Given the description of an element on the screen output the (x, y) to click on. 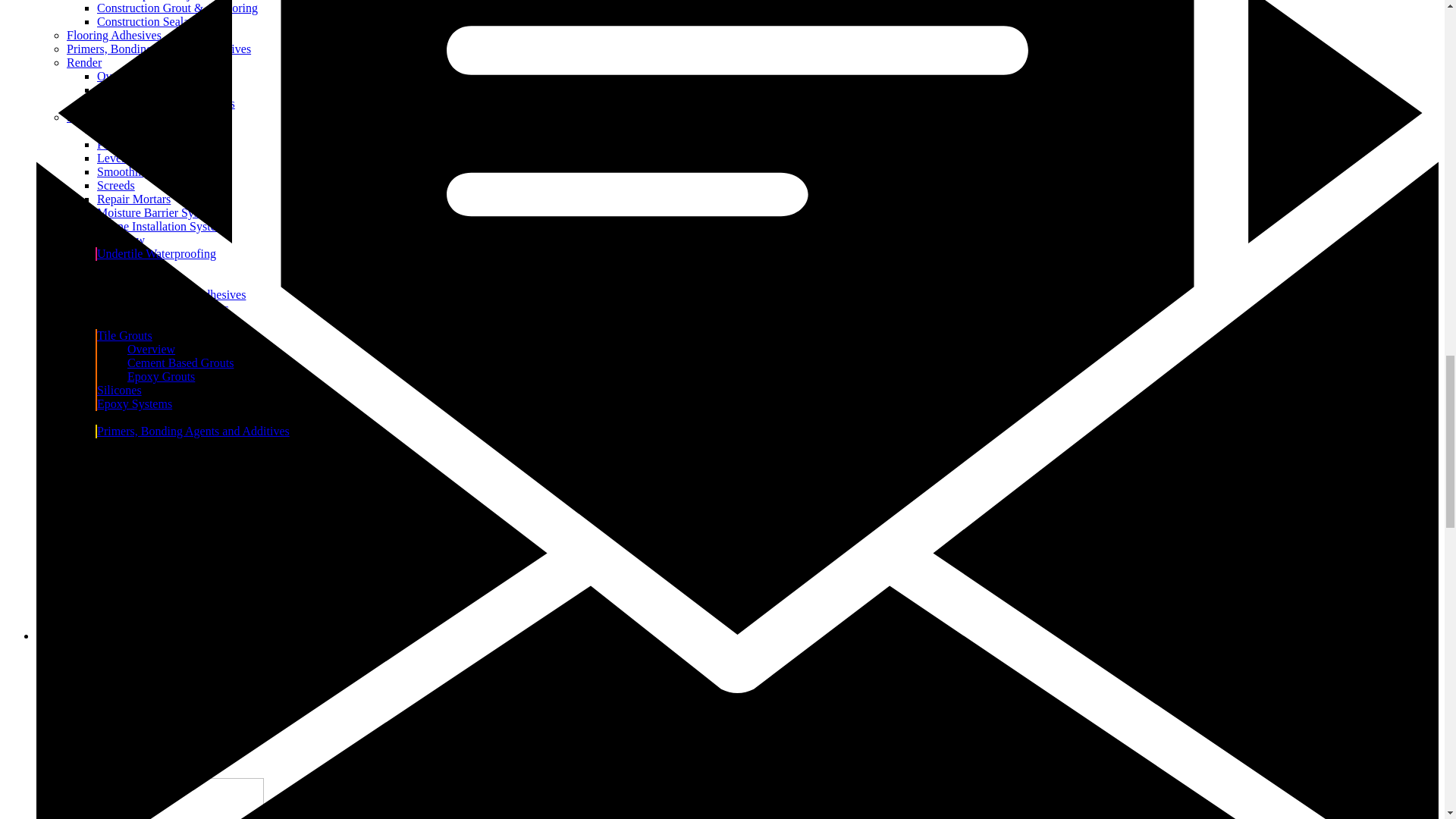
Patching (118, 144)
Overview (120, 75)
Cement Render (135, 89)
Construction Sealants (150, 21)
Patching (118, 144)
Flooring Adhesives (113, 34)
Cement Render (135, 89)
Smoothing (123, 171)
Overview (151, 280)
Overview (151, 349)
Tile Grouts (124, 335)
Tile Adhesives (132, 267)
Cement Based Grouts (180, 362)
Epoxy Grouts (161, 376)
Silicones (119, 390)
